Given the description of an element on the screen output the (x, y) to click on. 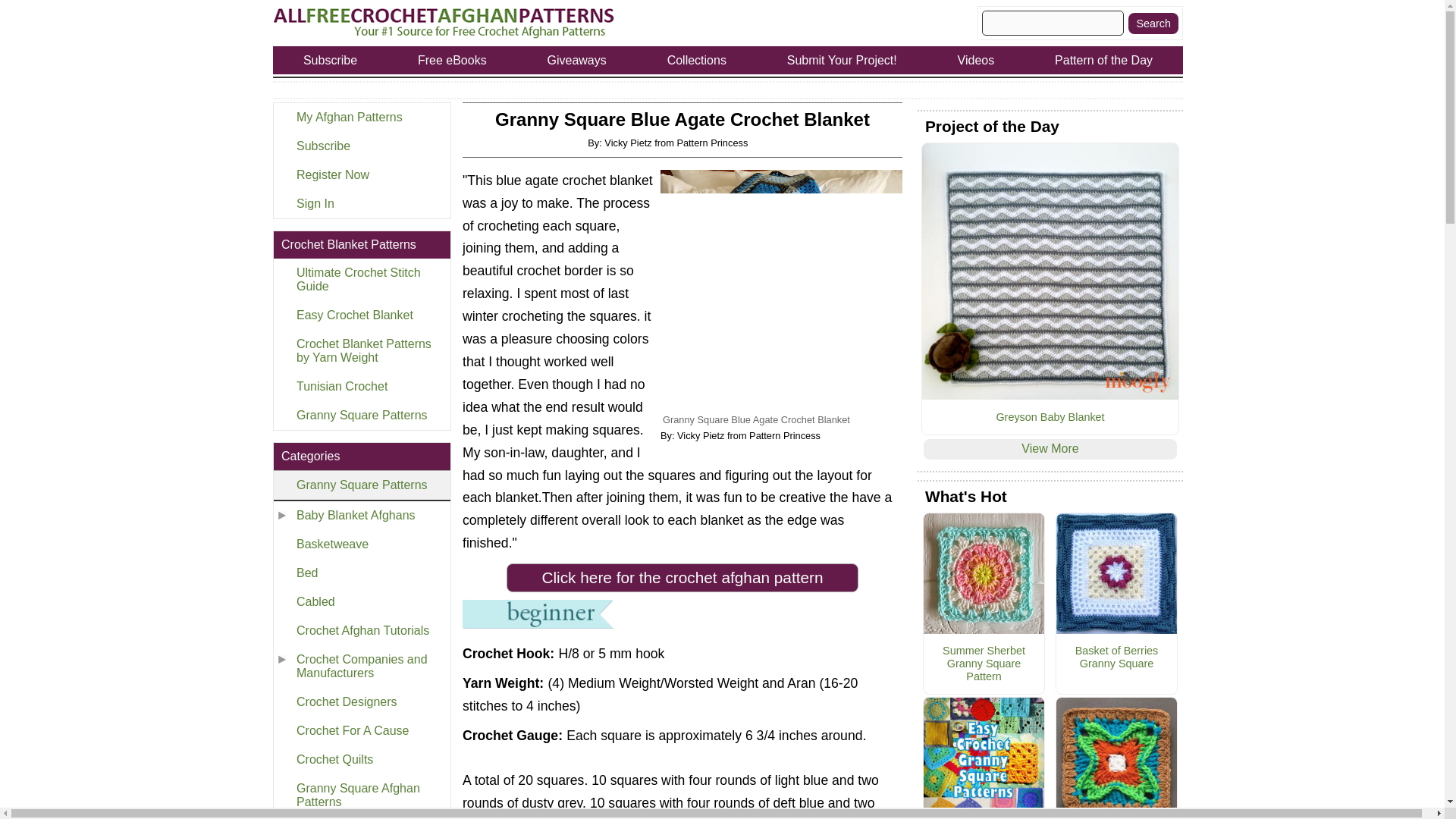
Register Now (361, 174)
Subscribe (361, 145)
Sign In (361, 203)
Search (1152, 22)
Granny Square Blue Agate Crochet Blanket (781, 290)
My Afghan Patterns (361, 117)
